Given the description of an element on the screen output the (x, y) to click on. 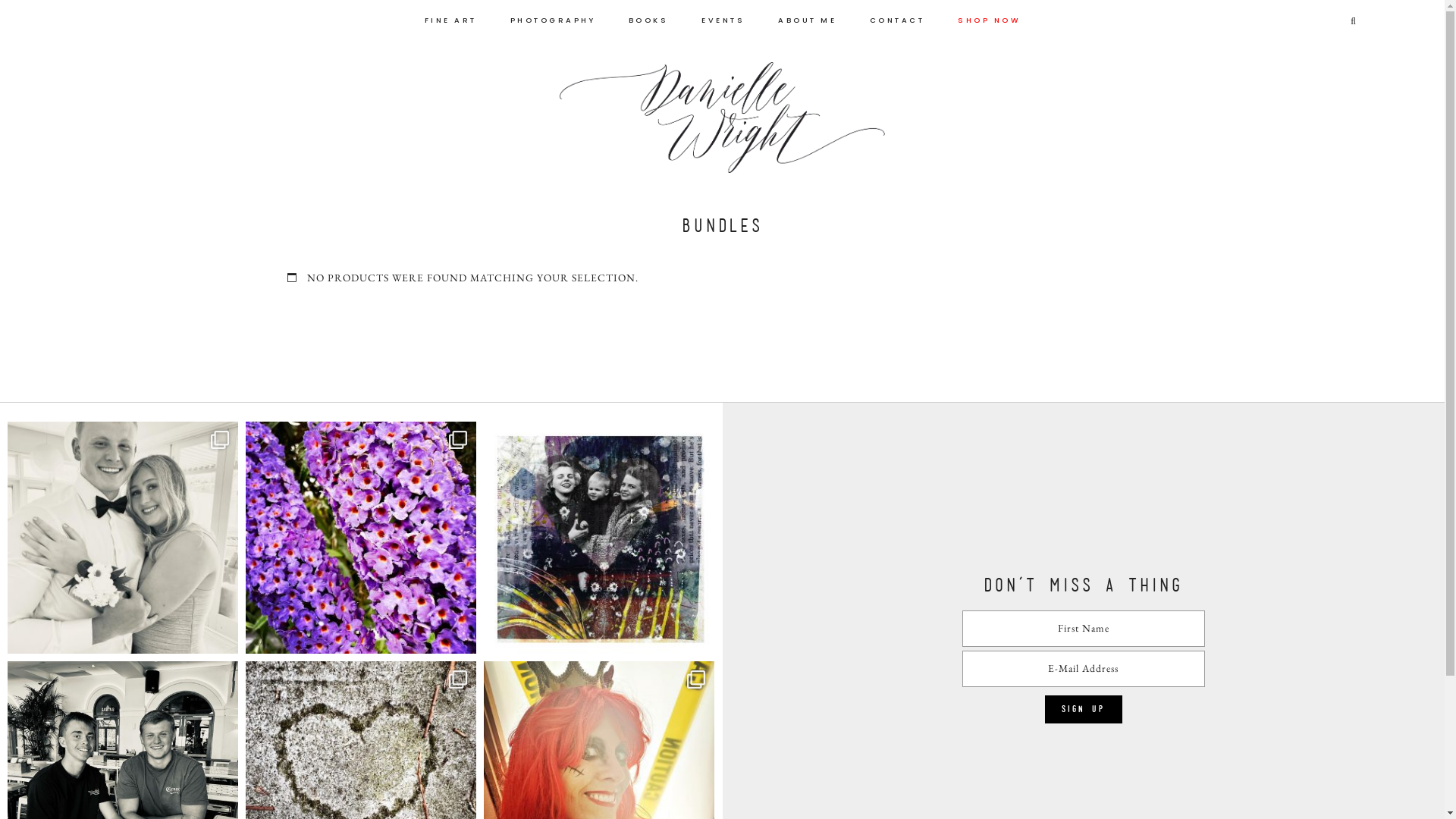
ABOUT ME Element type: text (807, 15)
FINE ART Element type: text (450, 15)
CONTACT Element type: text (897, 15)
EVENTS Element type: text (722, 15)
PHOTOGRAPHY Element type: text (553, 15)
Search Element type: text (24, 9)
SHOP NOW Element type: text (988, 15)
Sign Up Element type: text (1083, 709)
BOOKS Element type: text (648, 15)
Search for: Element type: hover (1318, 21)
